Given the description of an element on the screen output the (x, y) to click on. 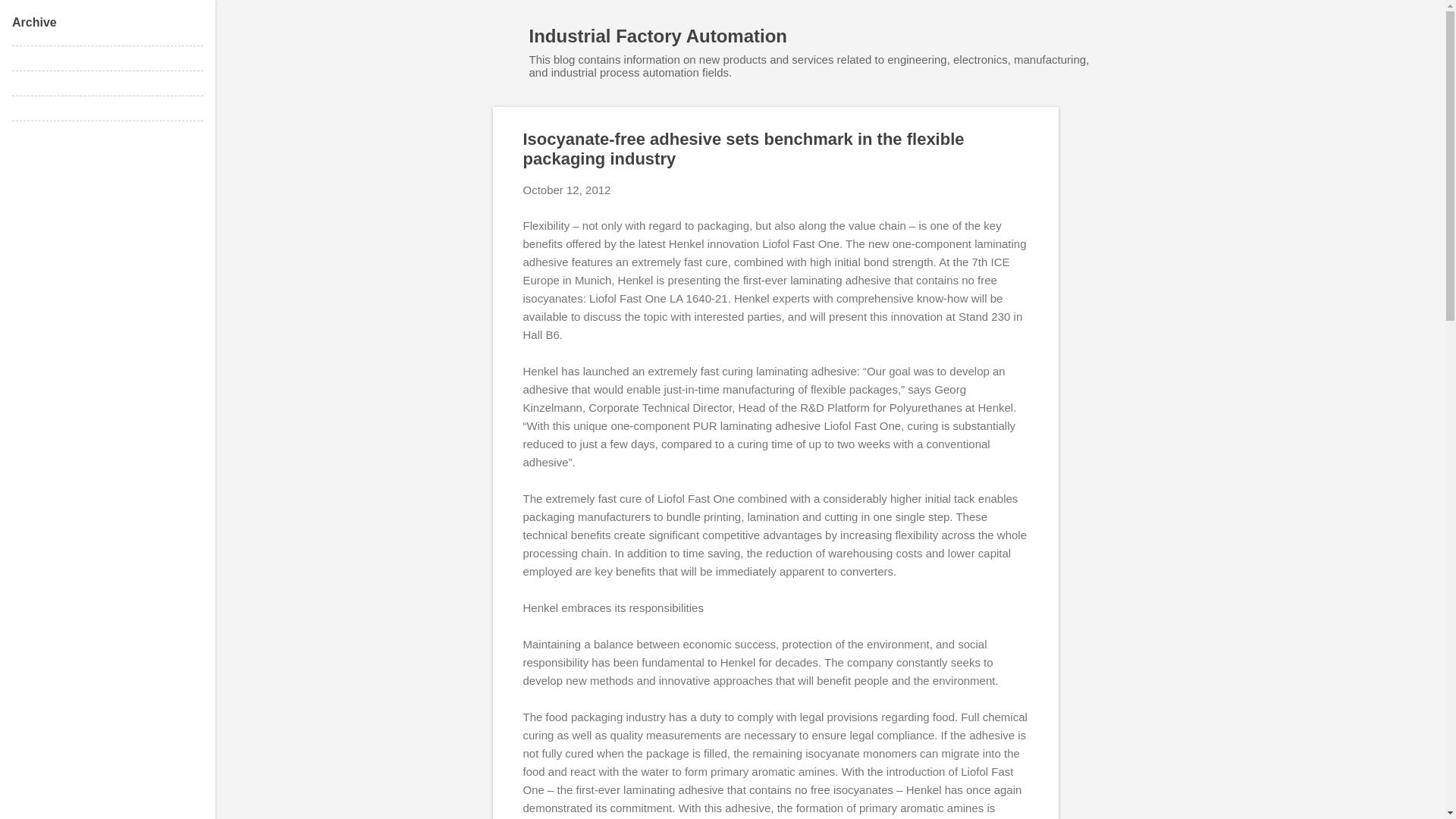
permanent link (566, 189)
Industrial Factory Automation (658, 35)
October 12, 2012 (566, 189)
